Given the description of an element on the screen output the (x, y) to click on. 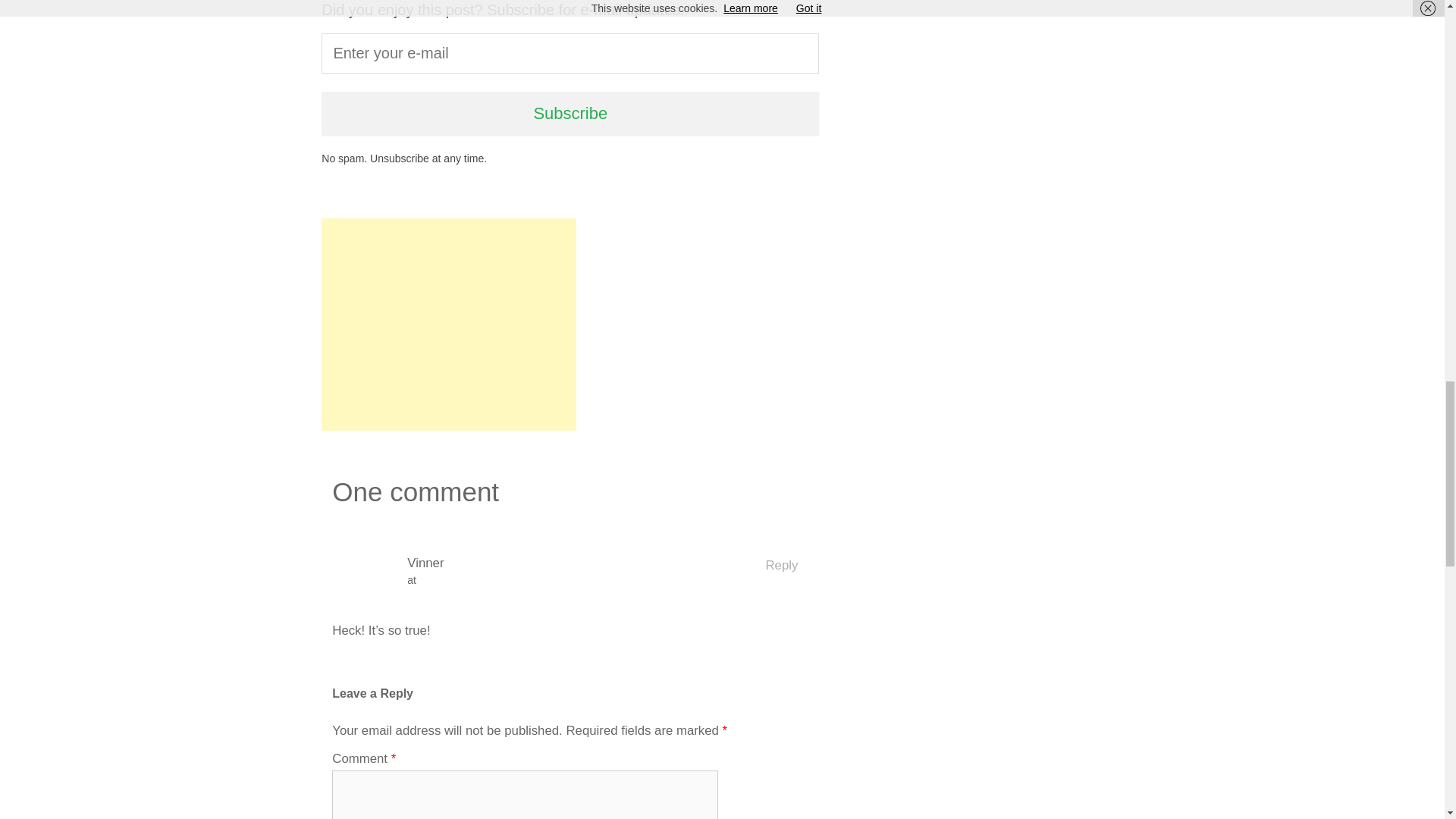
Reply (781, 565)
Subscribe (569, 113)
Advertisement (448, 324)
at (575, 580)
Subscribe (569, 113)
